Given the description of an element on the screen output the (x, y) to click on. 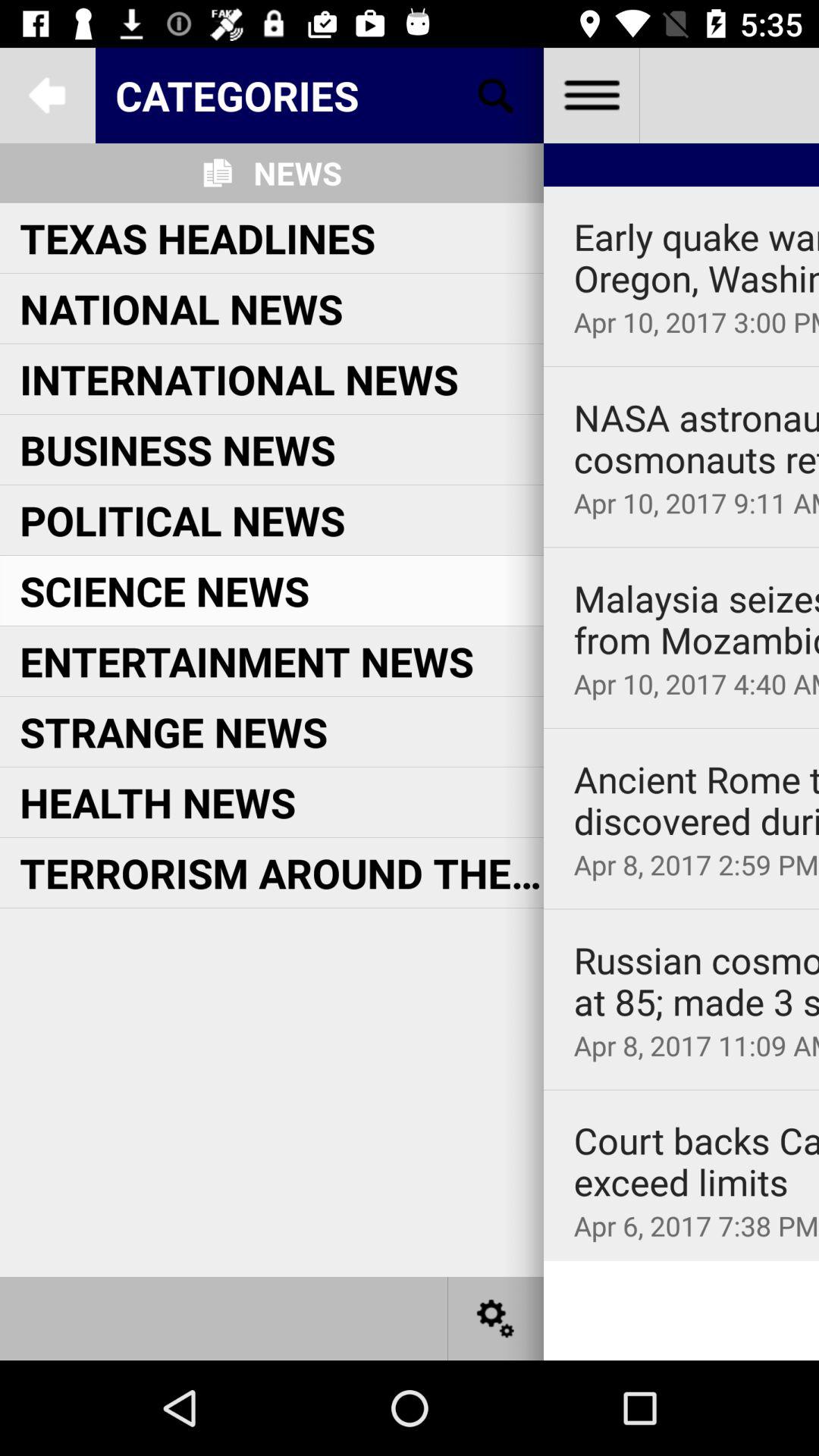
select the icon to the right of the texas headlines icon (696, 257)
